Given the description of an element on the screen output the (x, y) to click on. 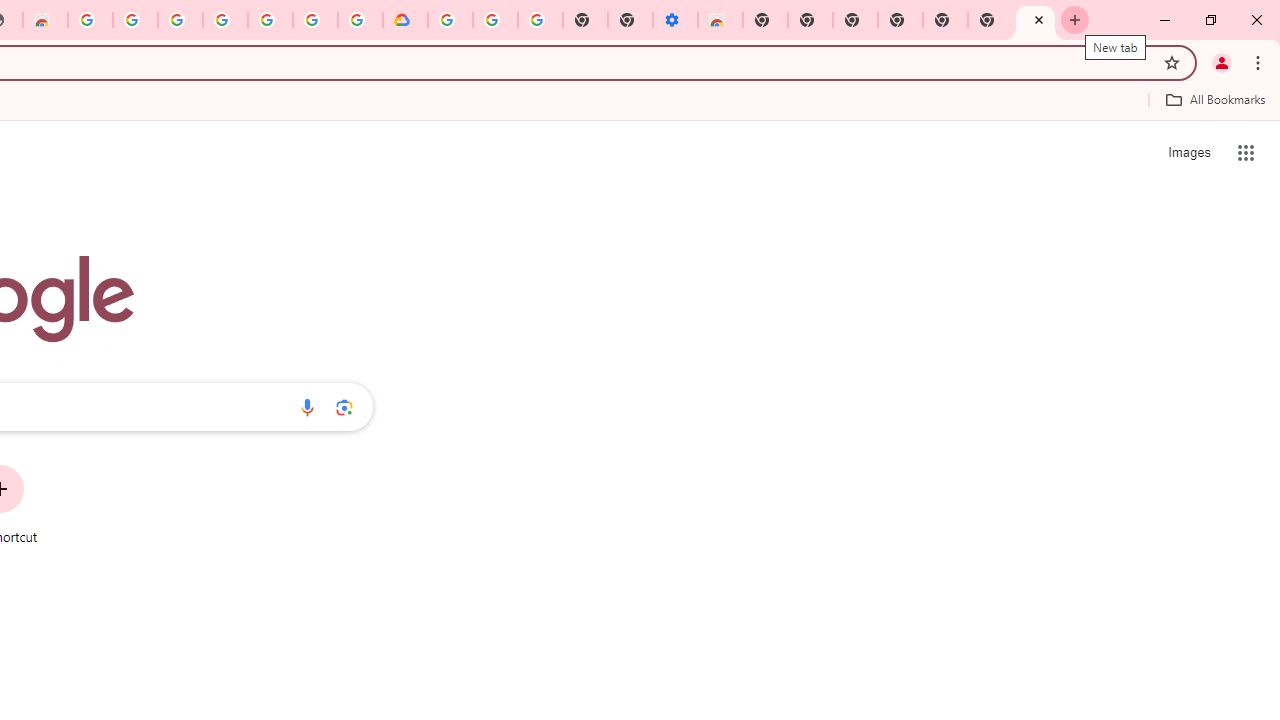
Turn cookies on or off - Computer - Google Account Help (540, 20)
Ad Settings (134, 20)
Sign in - Google Accounts (180, 20)
New Tab (944, 20)
Sign in - Google Accounts (450, 20)
